Given the description of an element on the screen output the (x, y) to click on. 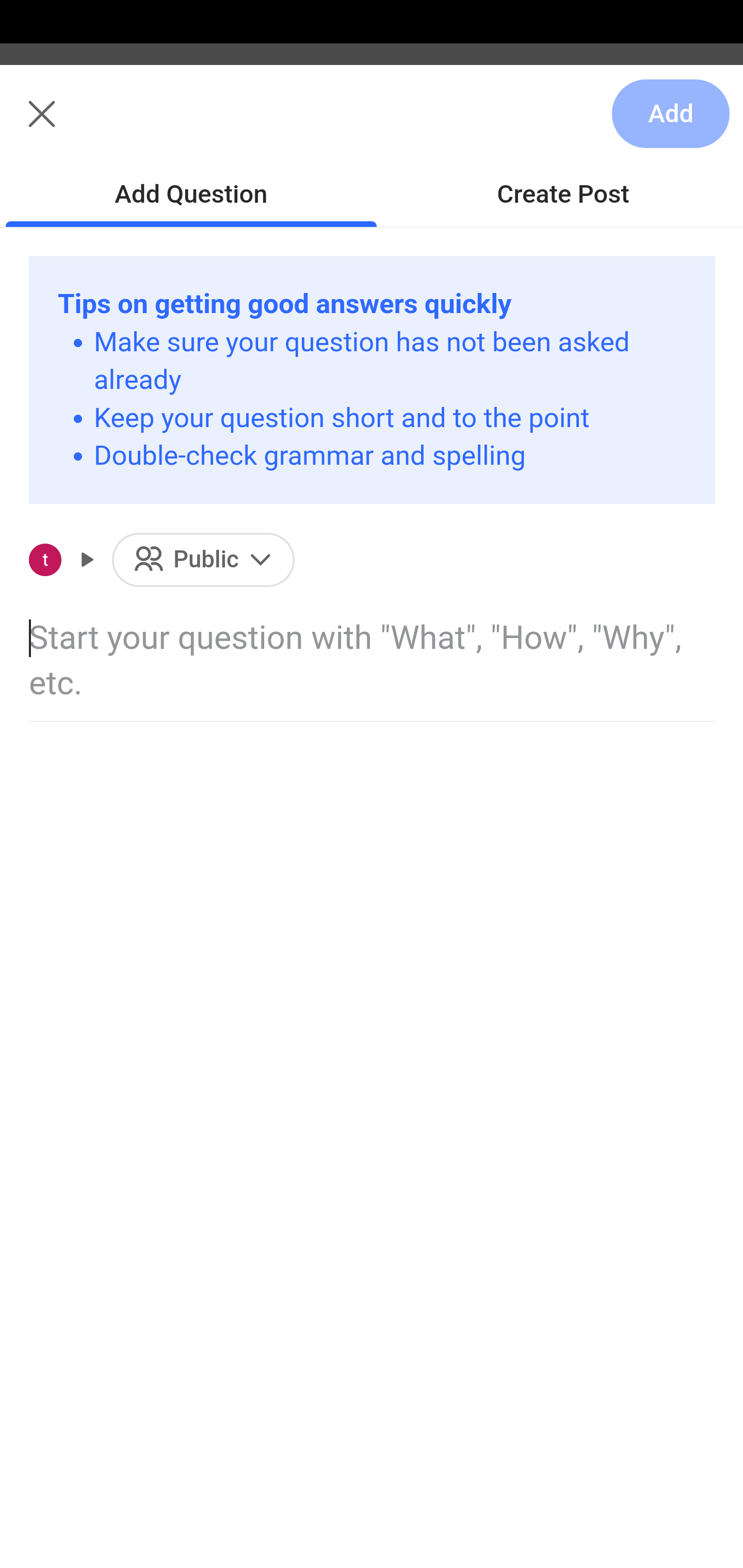
Me Home Search Add (371, 125)
Me (64, 125)
